Given the description of an element on the screen output the (x, y) to click on. 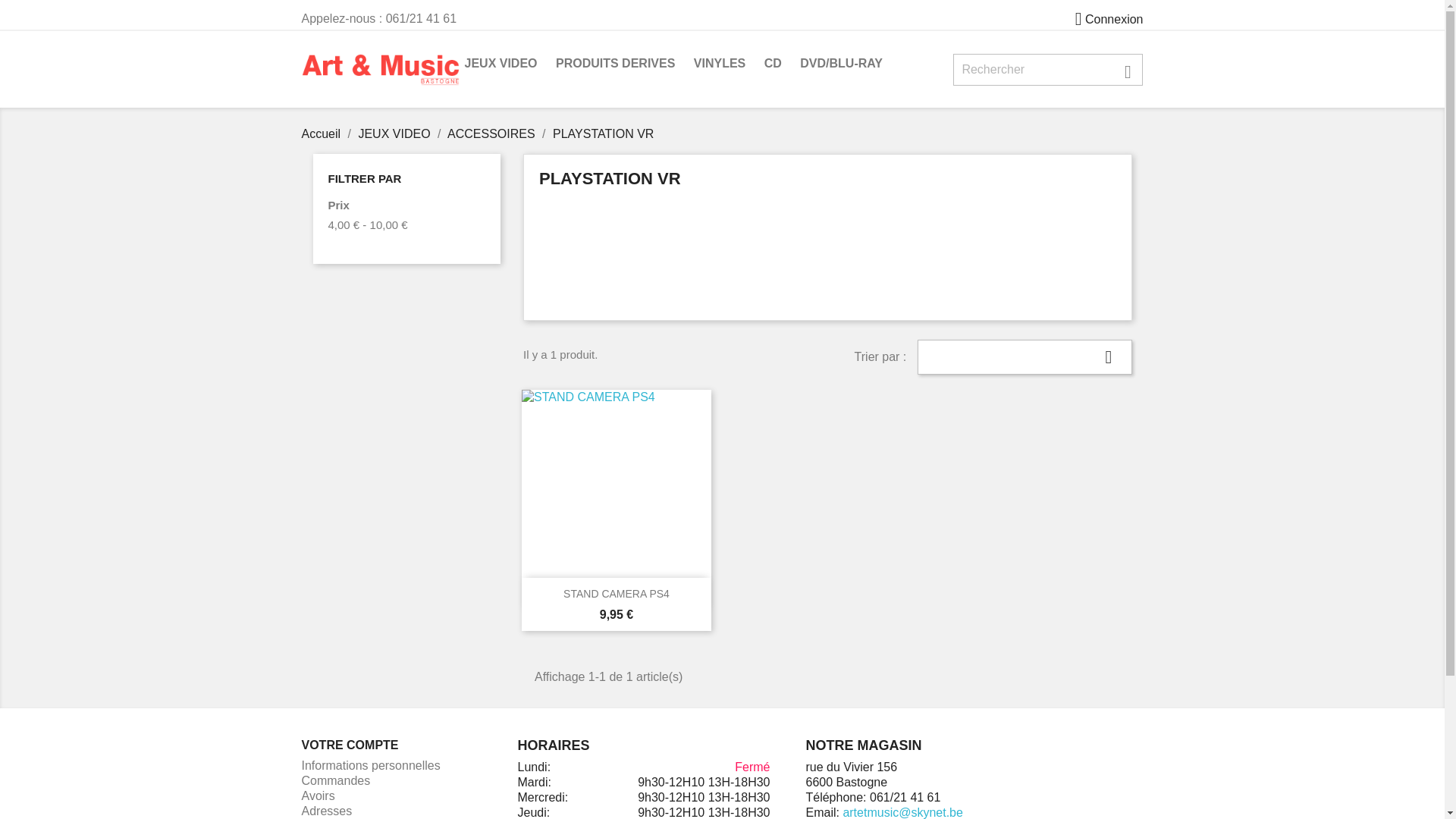
ACCESSOIRES Element type: text (492, 133)
Adresses Element type: text (326, 810)
VINYLES Element type: text (719, 64)
Commandes Element type: text (335, 780)
JEUX VIDEO Element type: text (500, 64)
JEUX VIDEO Element type: text (395, 133)
Informations personnelles Element type: text (370, 765)
Accueil Element type: text (322, 133)
STAND CAMERA PS4 Element type: text (616, 593)
VOTRE COMPTE Element type: text (349, 744)
PRODUITS DERIVES Element type: text (615, 64)
PLAYSTATION VR Element type: text (602, 133)
CD Element type: text (772, 64)
DVD/BLU-RAY Element type: text (841, 64)
Avoirs Element type: text (318, 795)
